Given the description of an element on the screen output the (x, y) to click on. 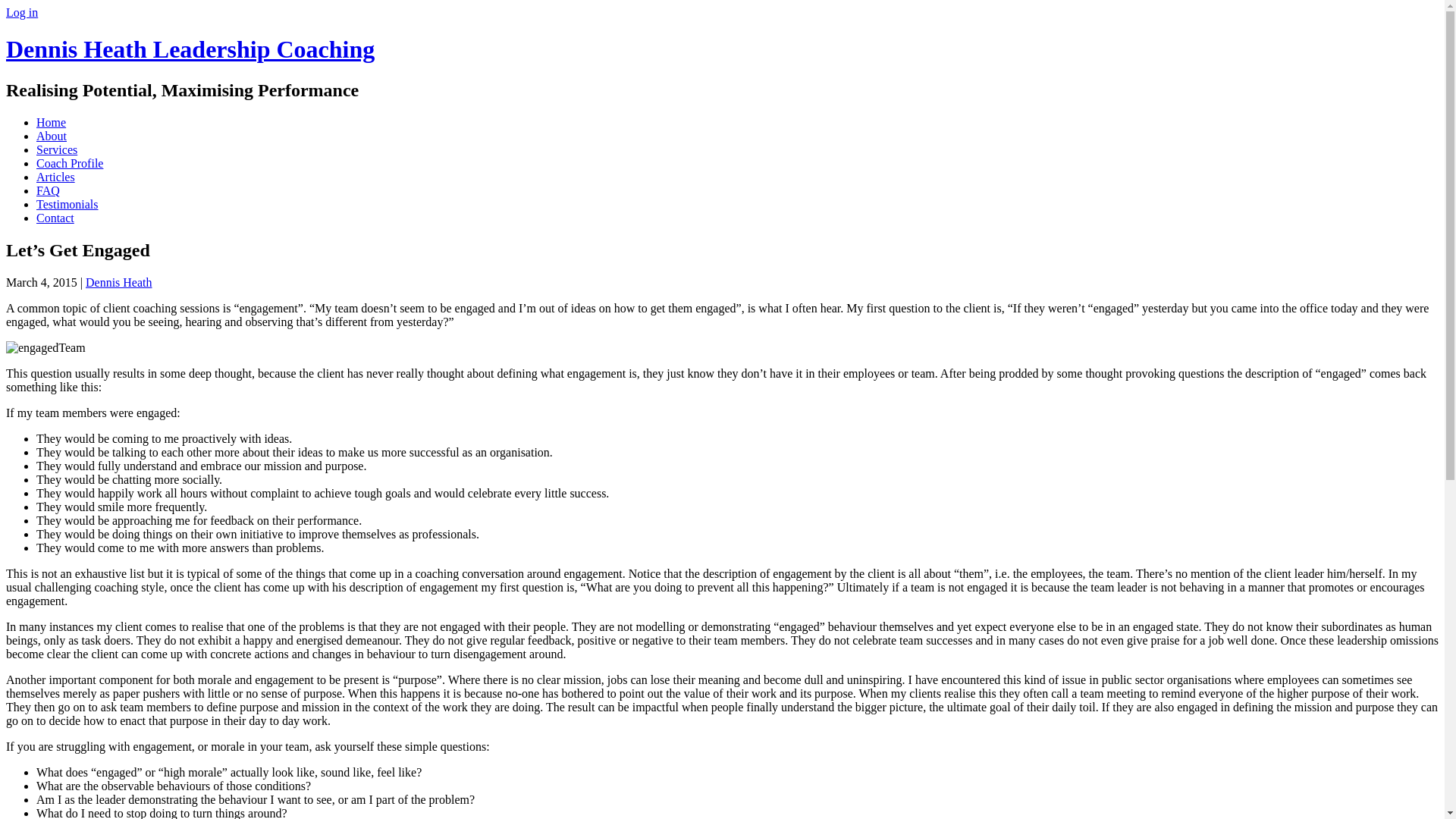
Testimonials (67, 204)
FAQ (47, 190)
Dennis Heath Leadership Coaching (189, 49)
Services (56, 149)
Dennis Heath (118, 282)
Log in (21, 11)
Articles (55, 176)
Coach Profile (69, 163)
About (51, 135)
Contact (55, 217)
